Given the description of an element on the screen output the (x, y) to click on. 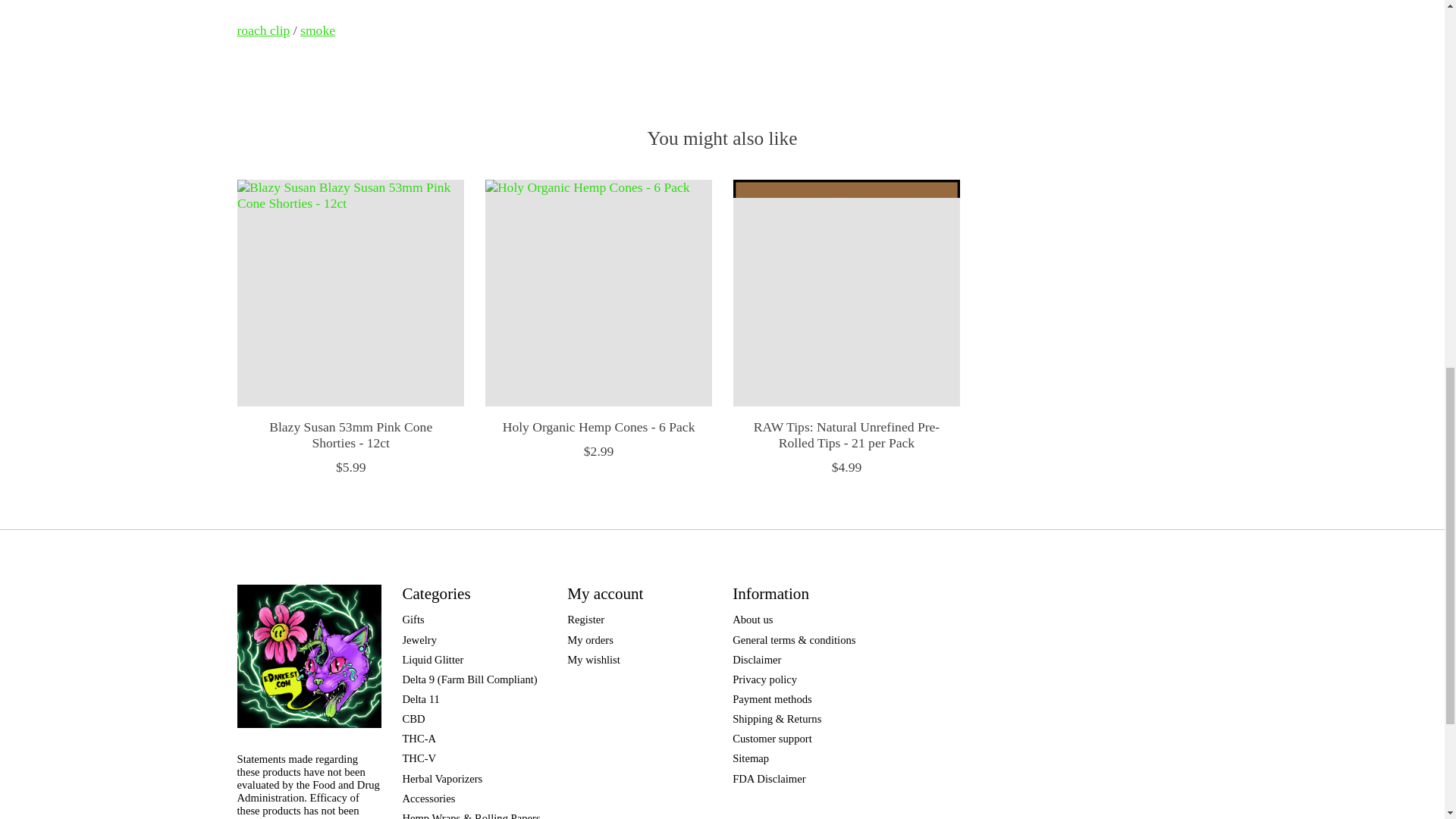
About us (752, 619)
Register (585, 619)
My wishlist (593, 659)
My orders (589, 639)
roach clip (262, 29)
Blazy Susan Blazy Susan 53mm Pink Cone Shorties - 12ct (349, 292)
Disclaimer (756, 659)
smoke (316, 29)
Holy Organic Hemp Cones - 6 Pack (597, 292)
